Given the description of an element on the screen output the (x, y) to click on. 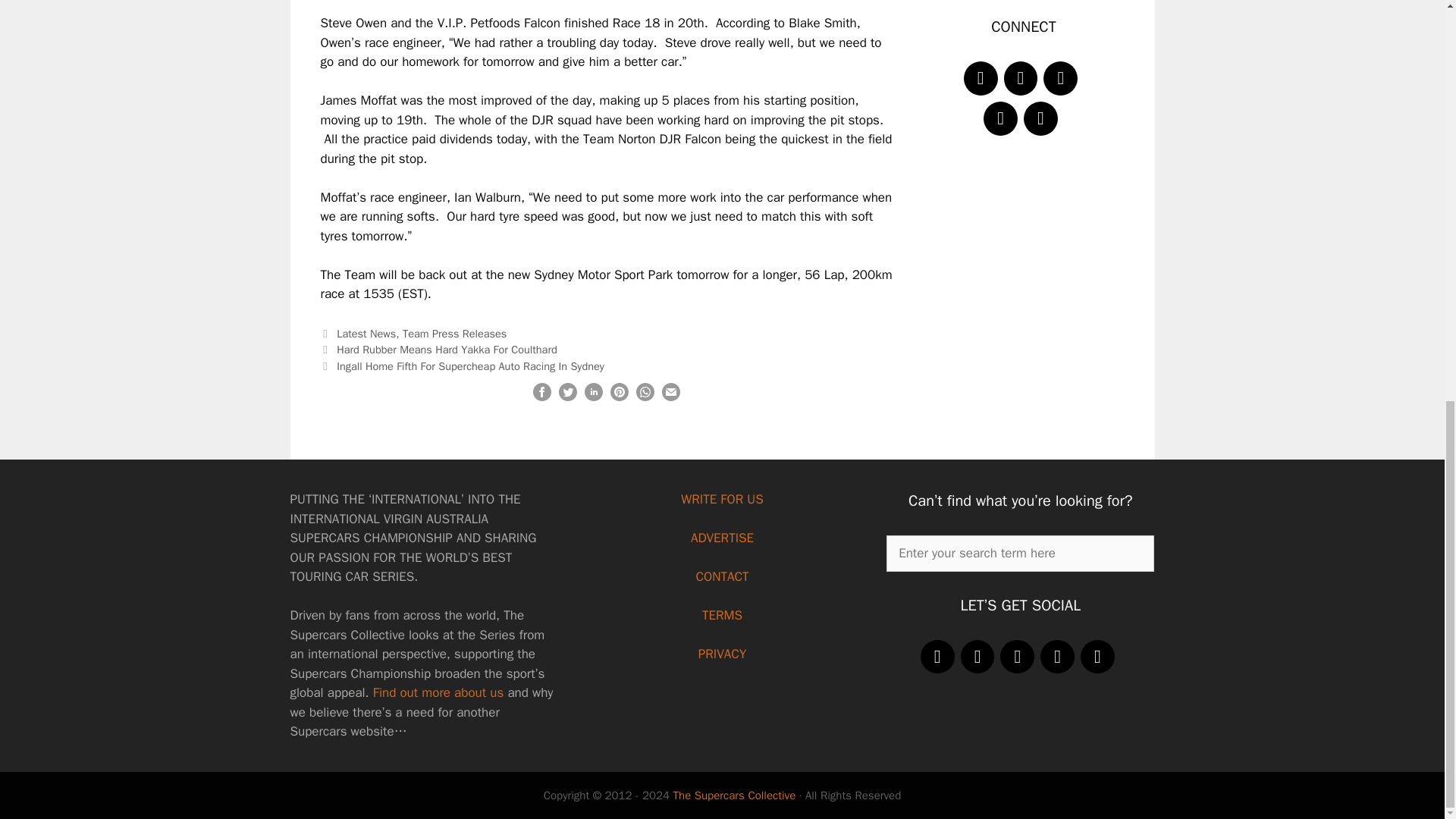
Share this post! (541, 396)
Scroll back to top (1406, 754)
Pin this post! (619, 396)
Share this post! (644, 396)
Share this post! (593, 396)
Latest News (366, 333)
Email this post! (670, 396)
Search for: (1020, 553)
Tweet this post! (567, 396)
